Given the description of an element on the screen output the (x, y) to click on. 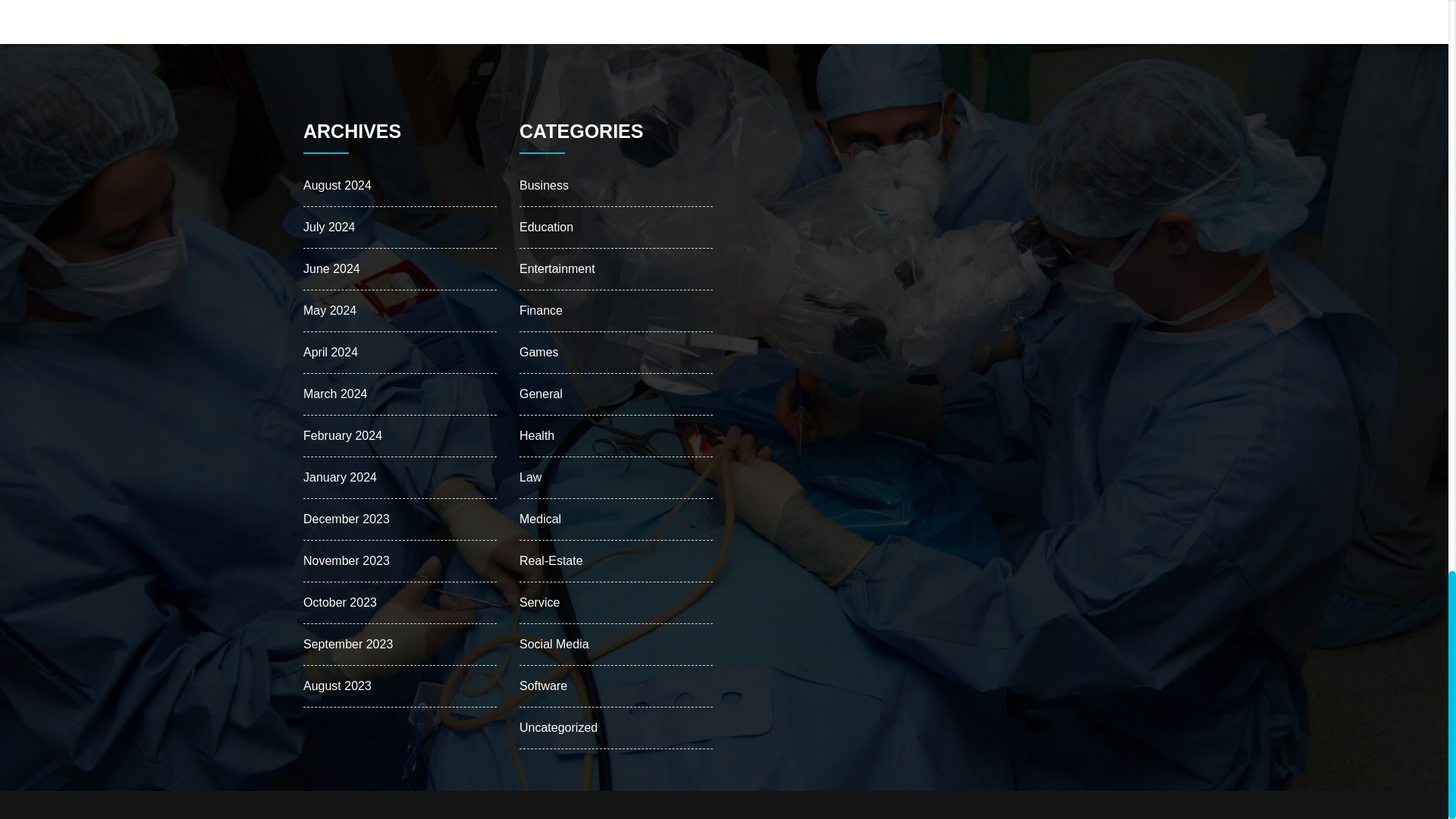
June 2024 (330, 268)
July 2024 (328, 226)
August 2024 (336, 185)
